Given the description of an element on the screen output the (x, y) to click on. 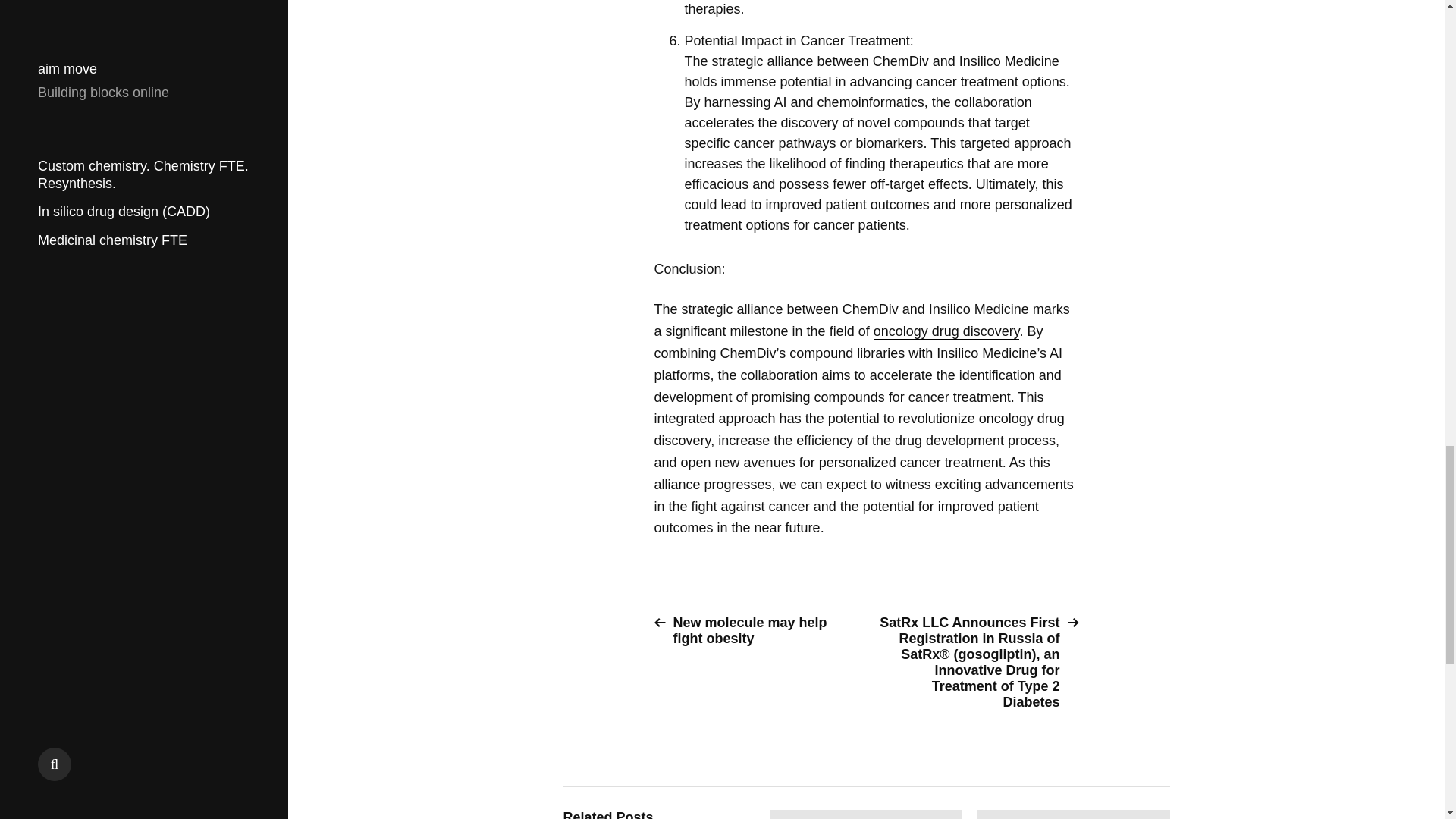
Cancer Treatmen (852, 41)
PI3K-Targeted Library (1073, 814)
oncology drug discovery (946, 331)
New molecule may help fight obesity (753, 631)
